Given the description of an element on the screen output the (x, y) to click on. 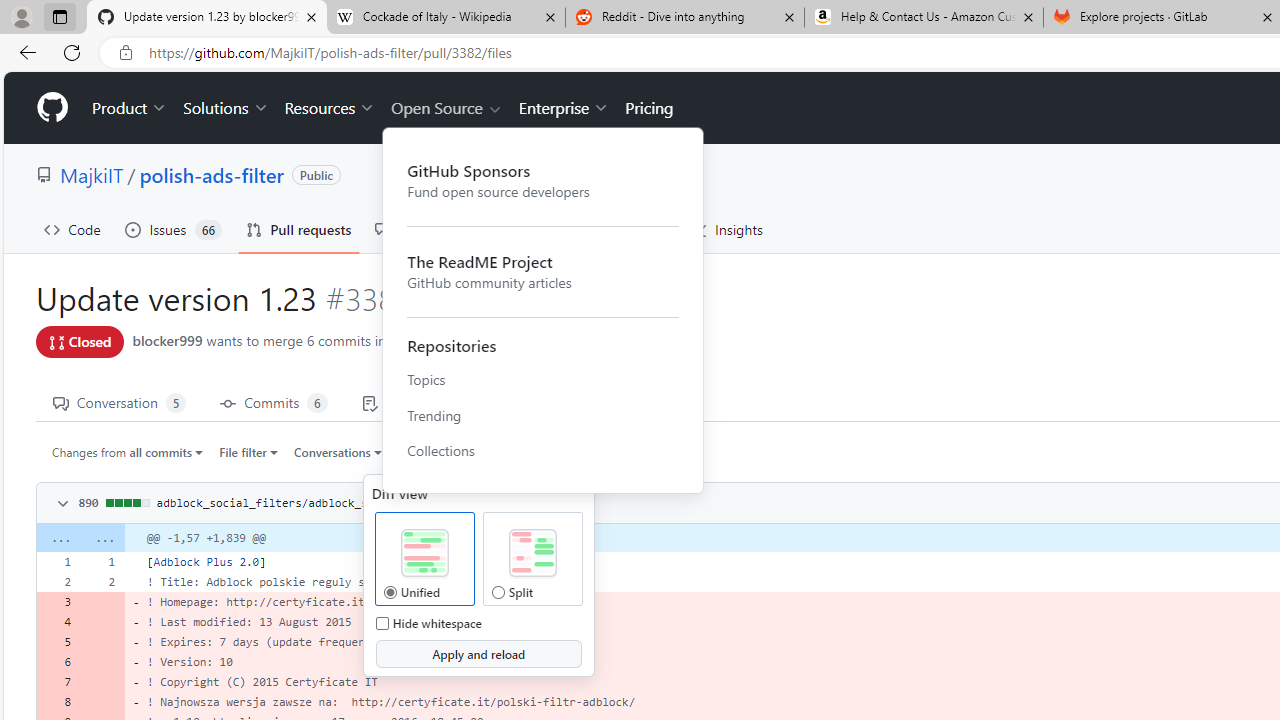
Copy (476, 501)
Discussions (424, 229)
Security (628, 229)
Security (628, 229)
Code (71, 229)
Issues66 (173, 229)
Enterprise (563, 107)
The ReadME Project GitHub community articles (543, 270)
MajkiIT : master (452, 342)
Diff settings (477, 452)
Resources (330, 107)
Topics (543, 379)
Actions (531, 229)
